Given the description of an element on the screen output the (x, y) to click on. 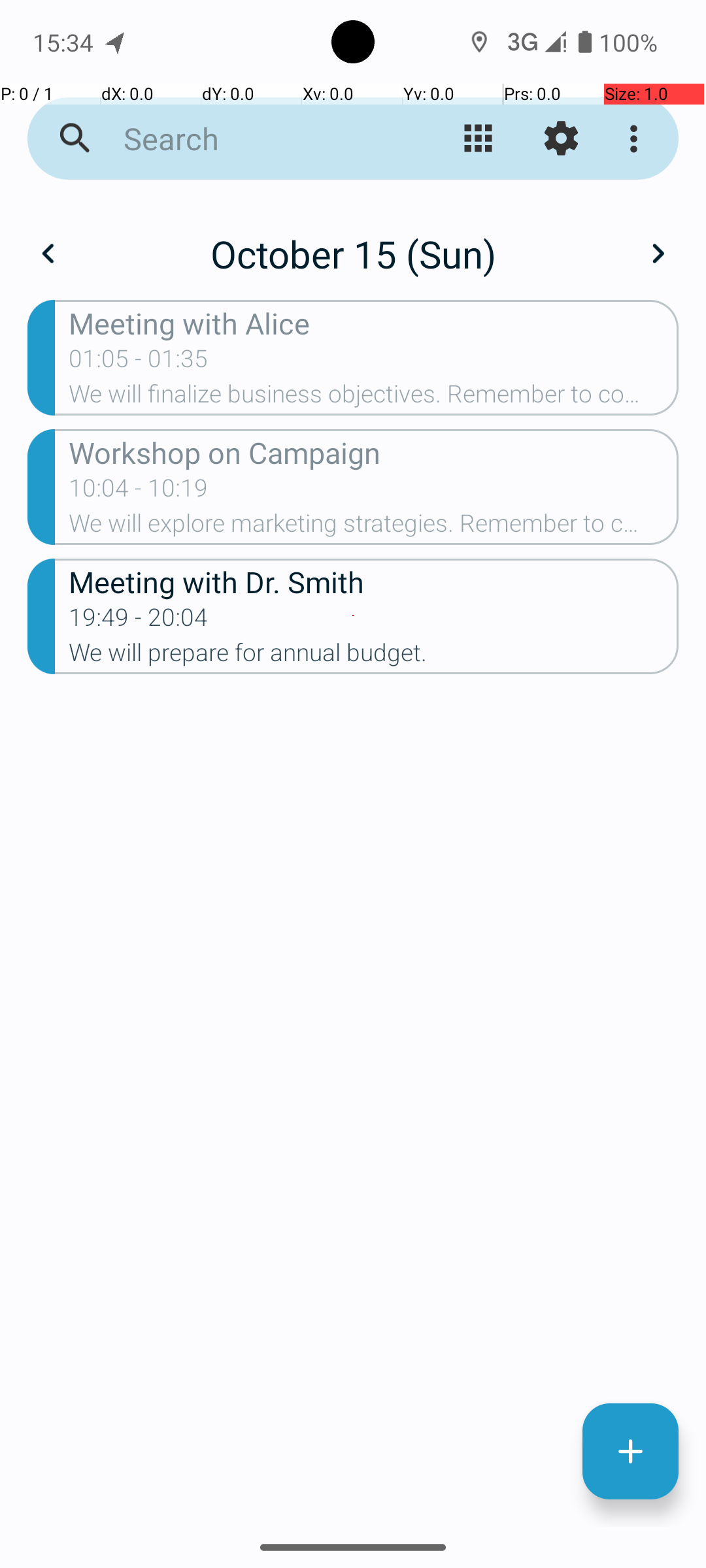
October 15 (Sun) Element type: android.widget.TextView (352, 253)
Meeting with Alice Element type: android.widget.TextView (373, 321)
01:05 - 01:35 Element type: android.widget.TextView (137, 362)
We will finalize business objectives. Remember to confirm attendance. Element type: android.widget.TextView (373, 397)
Workshop on Campaign Element type: android.widget.TextView (373, 451)
10:04 - 10:19 Element type: android.widget.TextView (137, 491)
We will explore marketing strategies. Remember to confirm attendance. Element type: android.widget.TextView (373, 526)
Meeting with Dr. Smith Element type: android.widget.TextView (373, 580)
19:49 - 20:04 Element type: android.widget.TextView (137, 620)
We will prepare for annual budget. Element type: android.widget.TextView (373, 656)
